Given the description of an element on the screen output the (x, y) to click on. 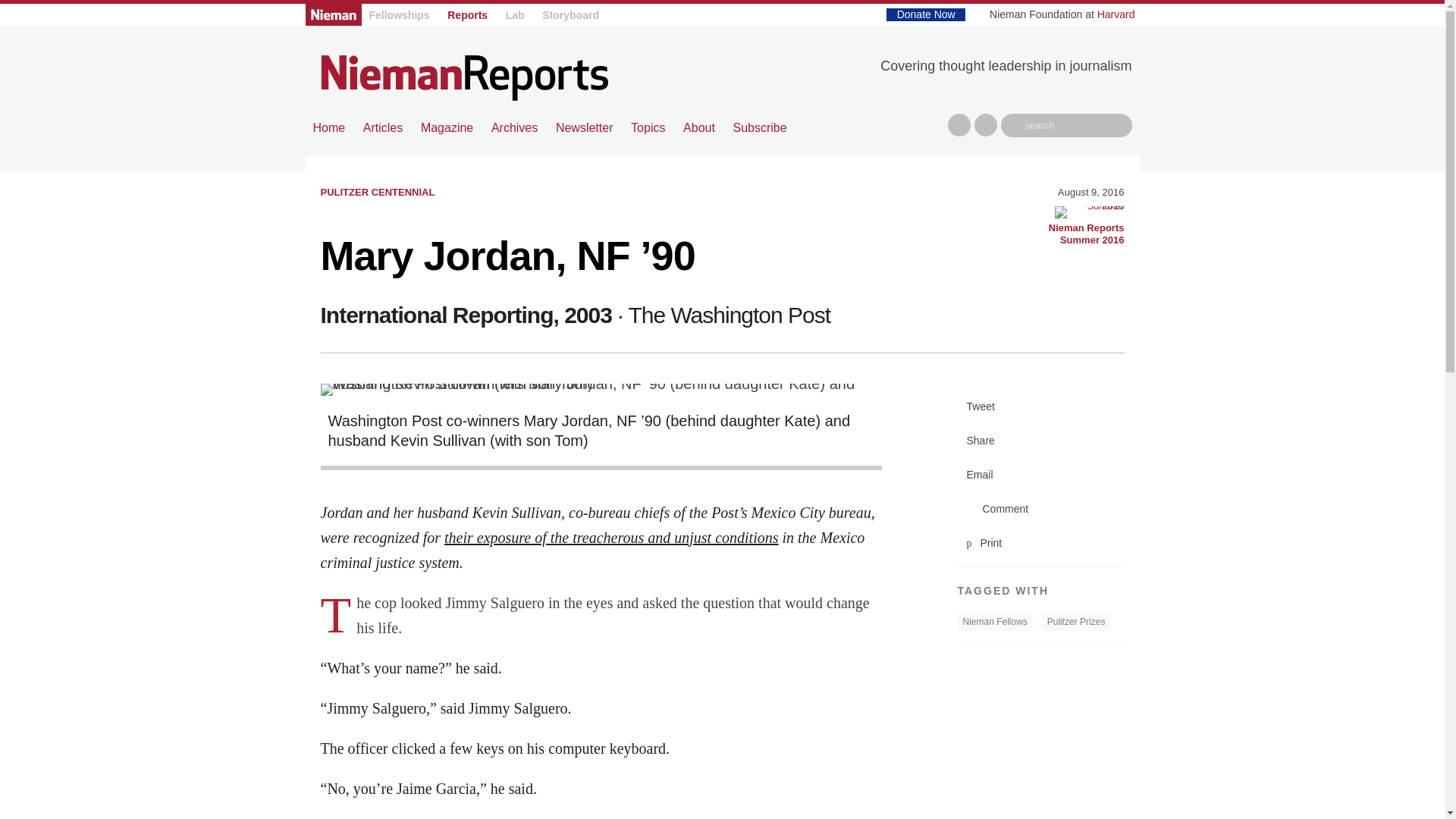
Archives (514, 127)
Nieman Foundation Home (332, 14)
Home (329, 127)
Print (1040, 543)
Reports (466, 15)
Nieman Reports Summer 2016 (1089, 212)
Tweet (1040, 406)
Pulitzer Prizes (1076, 621)
F (959, 124)
Magazine (446, 127)
Storyboard (569, 15)
Comment (1040, 509)
Nieman Fellows (994, 621)
Home (464, 76)
Type search term here (1066, 125)
